Given the description of an element on the screen output the (x, y) to click on. 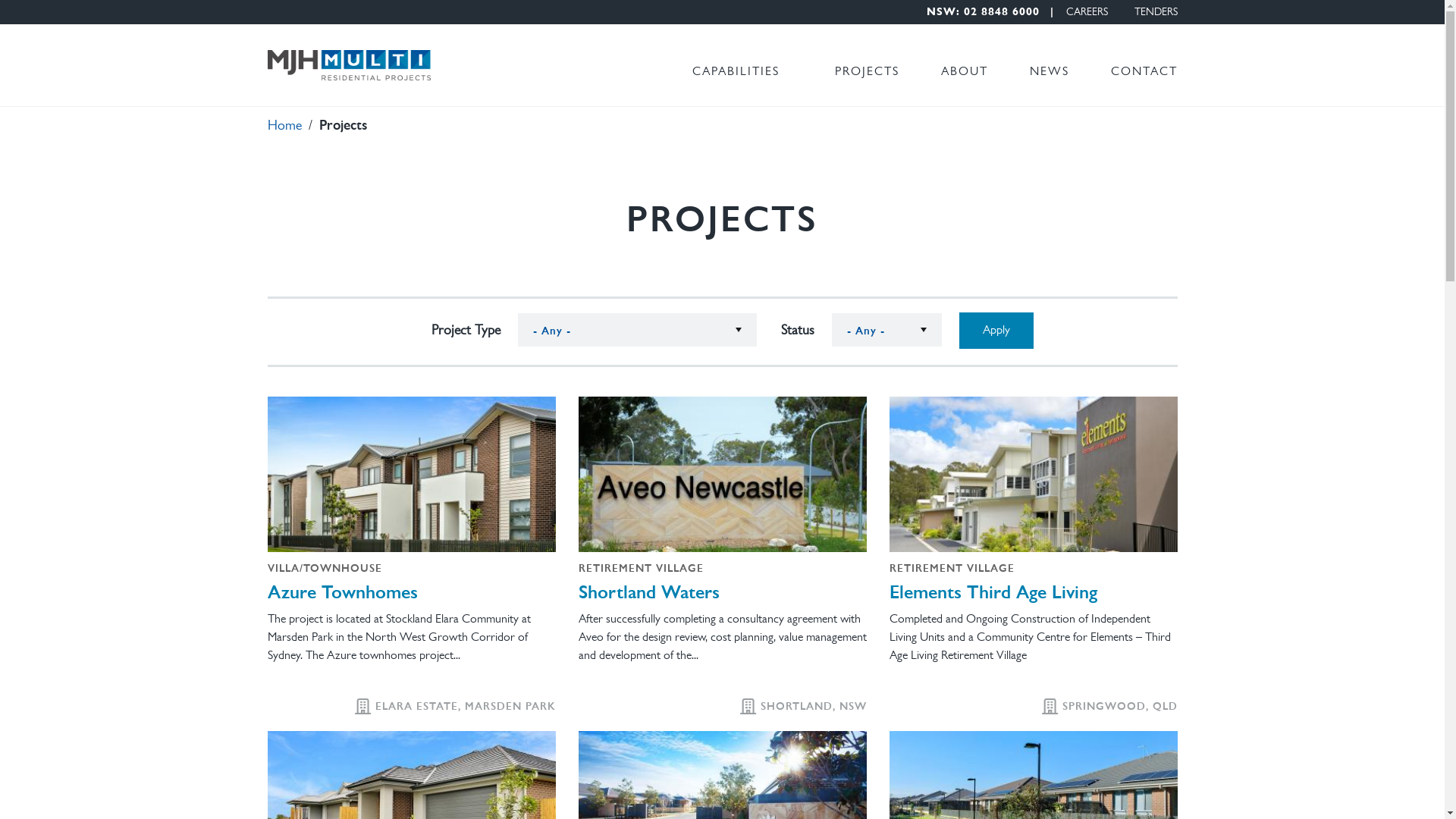
PROJECTS Element type: text (866, 71)
Home Element type: text (283, 126)
Home Element type: hover (347, 64)
Elements Third Age Living Element type: text (1032, 590)
Skip to main content Element type: text (57, 0)
Aveo Newcastle Element type: hover (721, 474)
Elements Third Age Retirement Village Element type: hover (1032, 474)
Azure Townhomes Element type: text (410, 590)
Apply Element type: text (996, 330)
CAREERS Element type: text (1086, 12)
NEWS Element type: text (1049, 71)
CAPABILITIES Element type: text (735, 71)
Shortland Waters Element type: text (721, 590)
NSW: 02 8848 6000 Element type: text (994, 12)
ABOUT Element type: text (963, 71)
CONTACT Element type: text (1143, 71)
TENDERS Element type: text (1155, 12)
